Given the description of an element on the screen output the (x, y) to click on. 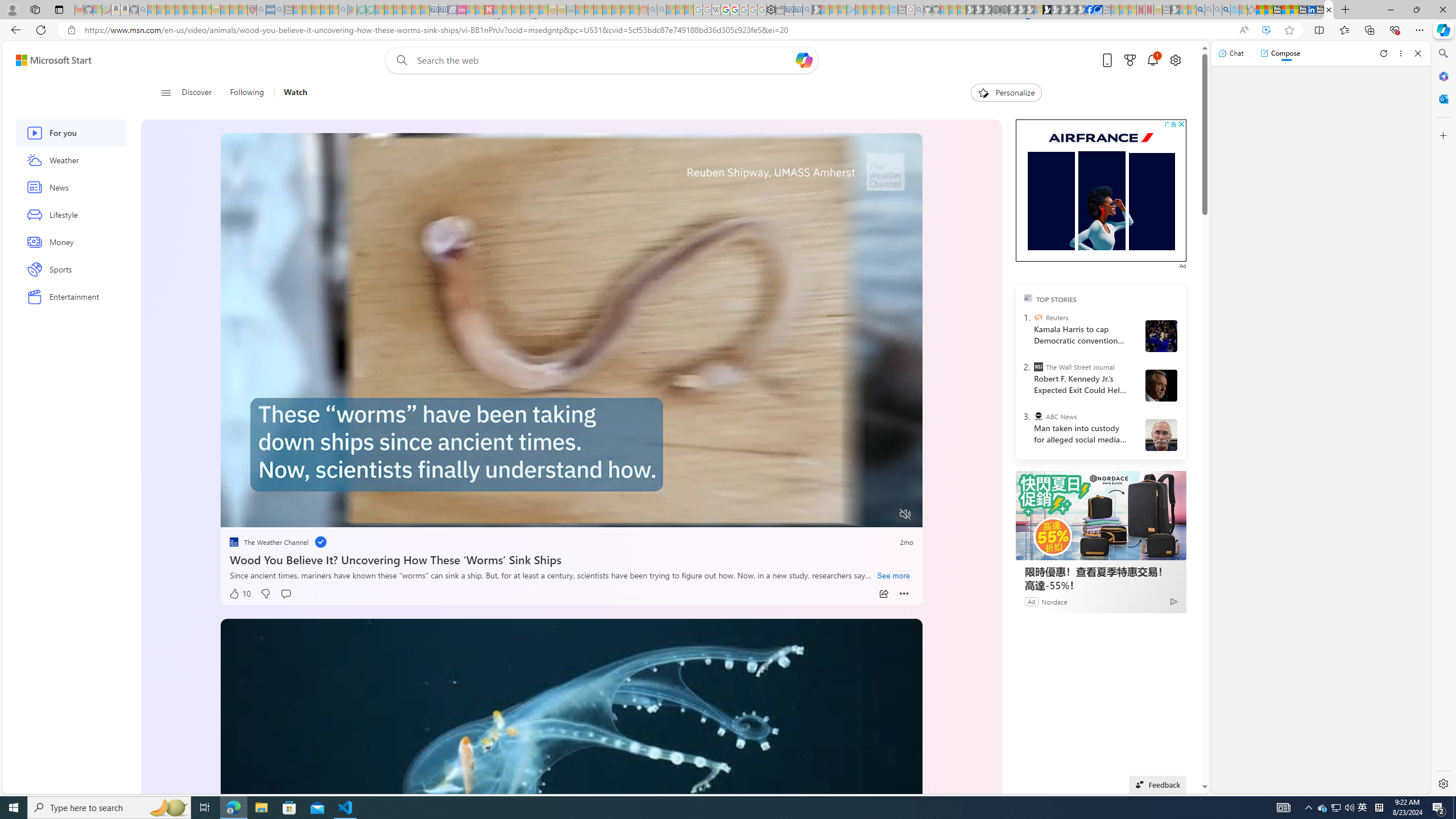
Seek Back (260, 514)
Microsoft rewards (1129, 60)
Expert Portfolios - Sleeping (606, 9)
Open navigation menu (164, 92)
